Given the description of an element on the screen output the (x, y) to click on. 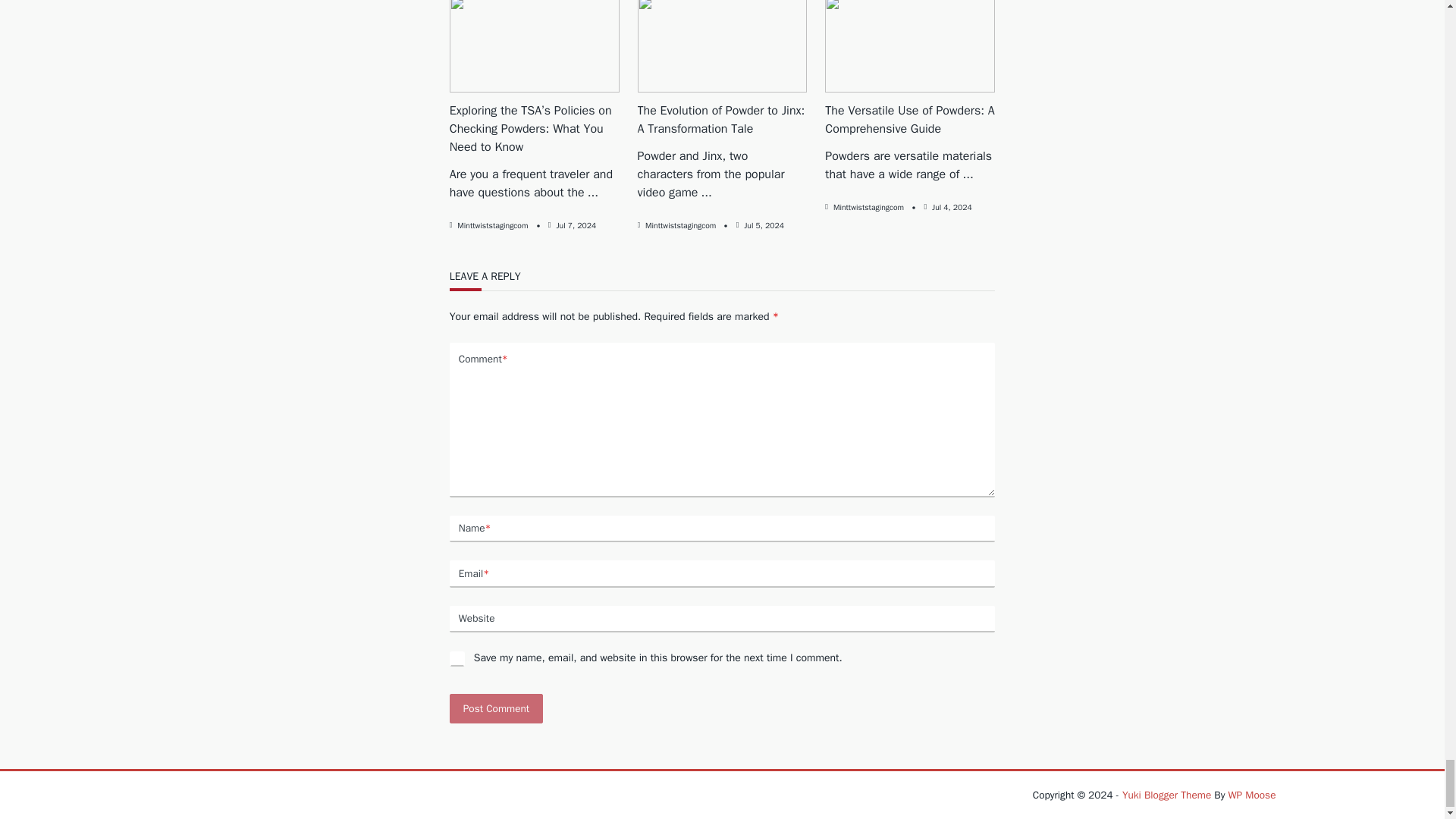
yes (456, 658)
Post Comment (496, 708)
